Given the description of an element on the screen output the (x, y) to click on. 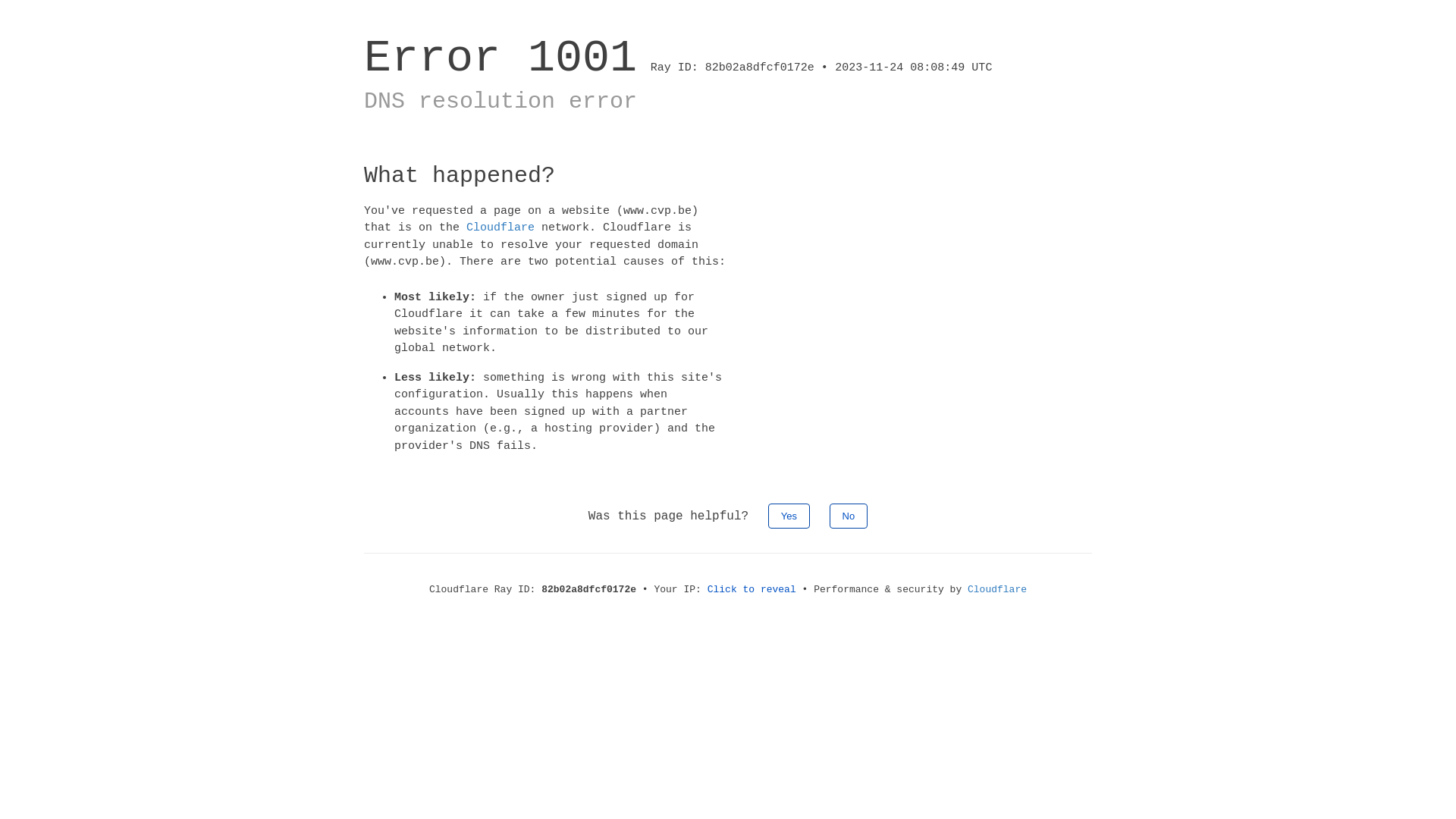
Cloudflare Element type: text (996, 589)
Click to reveal Element type: text (751, 589)
Yes Element type: text (788, 515)
No Element type: text (848, 515)
Cloudflare Element type: text (500, 227)
